Given the description of an element on the screen output the (x, y) to click on. 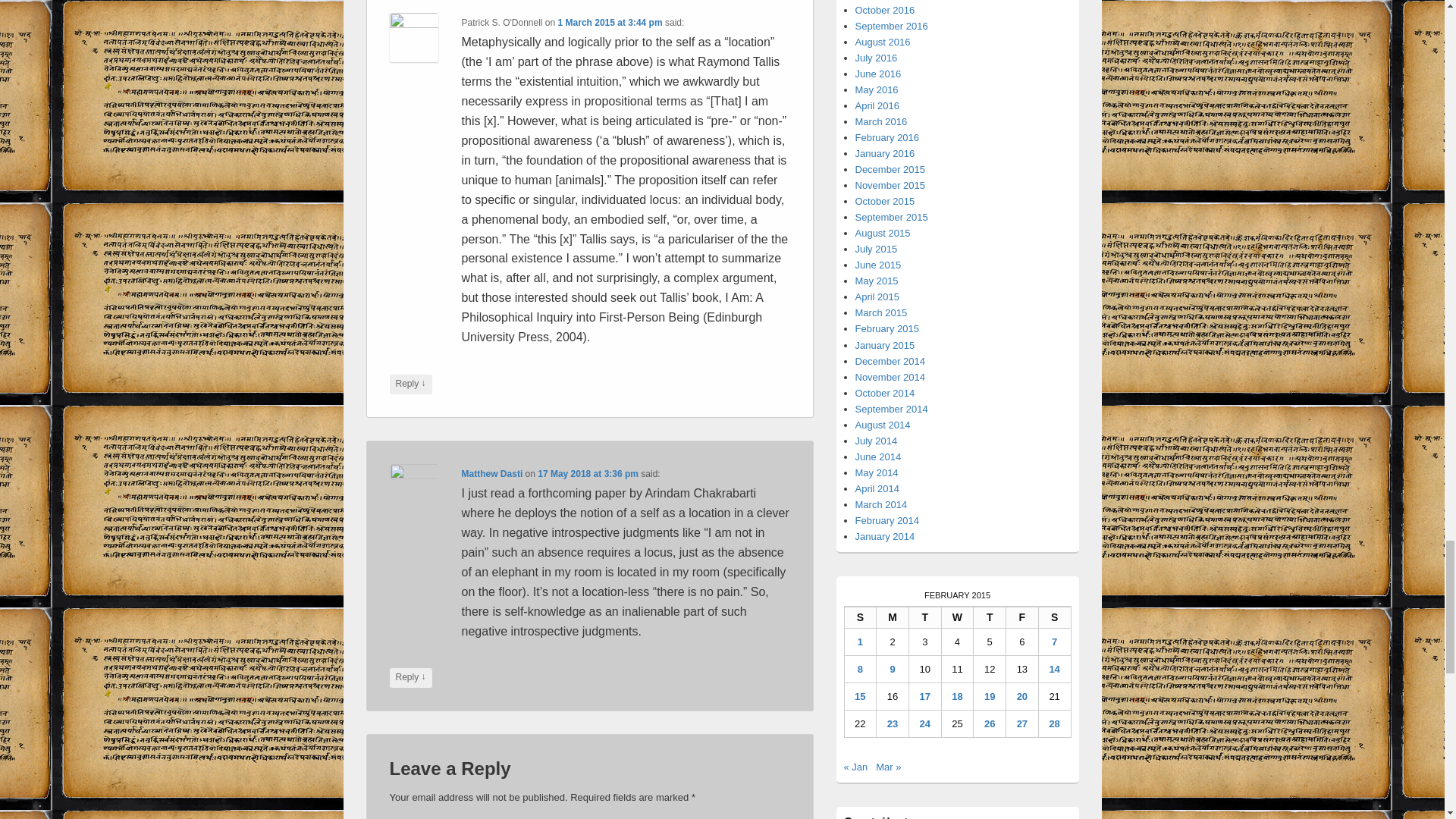
17 May 2018 at 3:36 pm (588, 473)
Saturday (1055, 617)
Matthew Dasti (491, 473)
Monday (892, 617)
Thursday (990, 617)
1 March 2015 at 3:44 pm (609, 22)
Sunday (860, 617)
Wednesday (958, 617)
Tuesday (925, 617)
Friday (1022, 617)
